Given the description of an element on the screen output the (x, y) to click on. 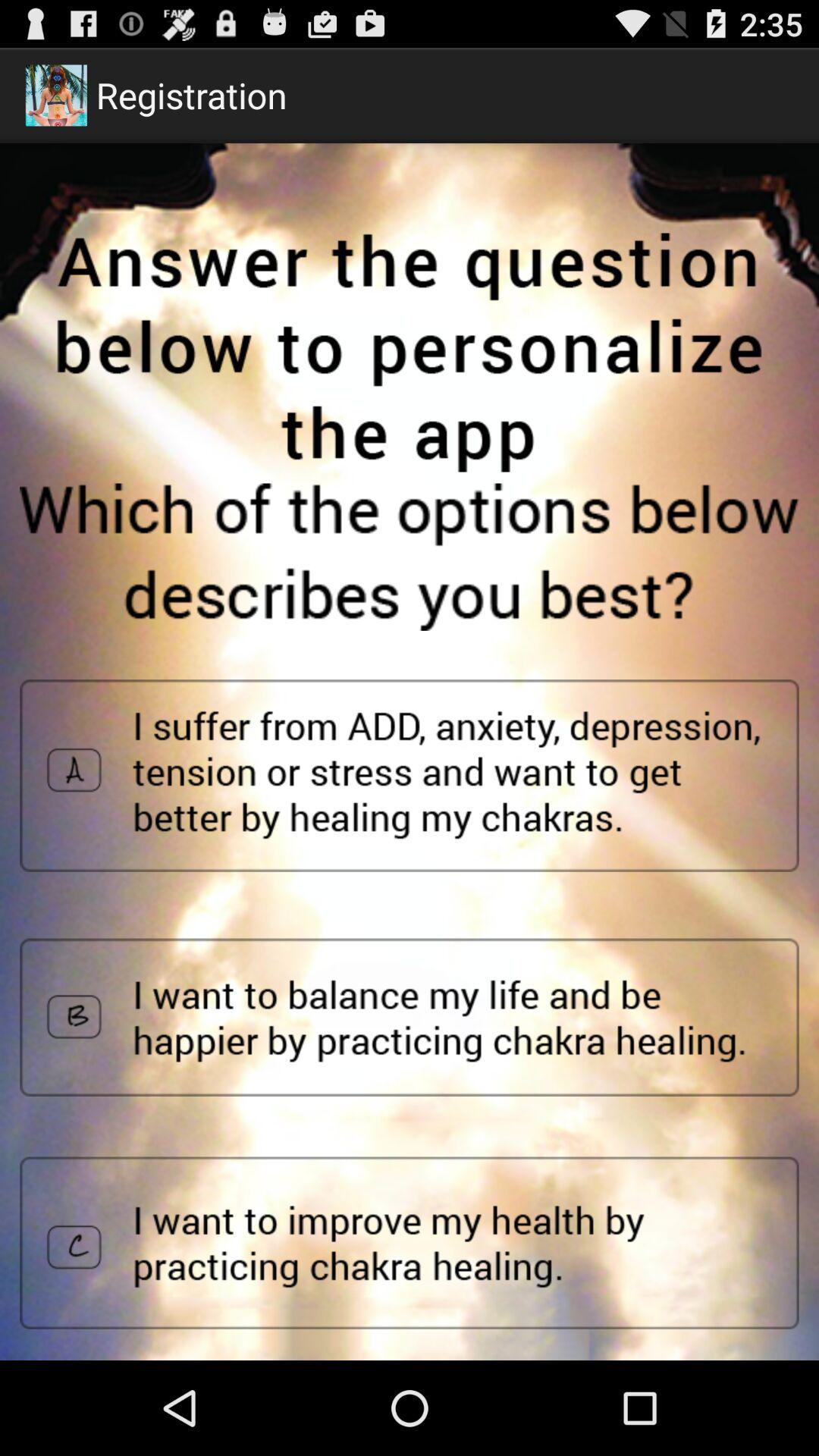
select answer (409, 1017)
